Given the description of an element on the screen output the (x, y) to click on. 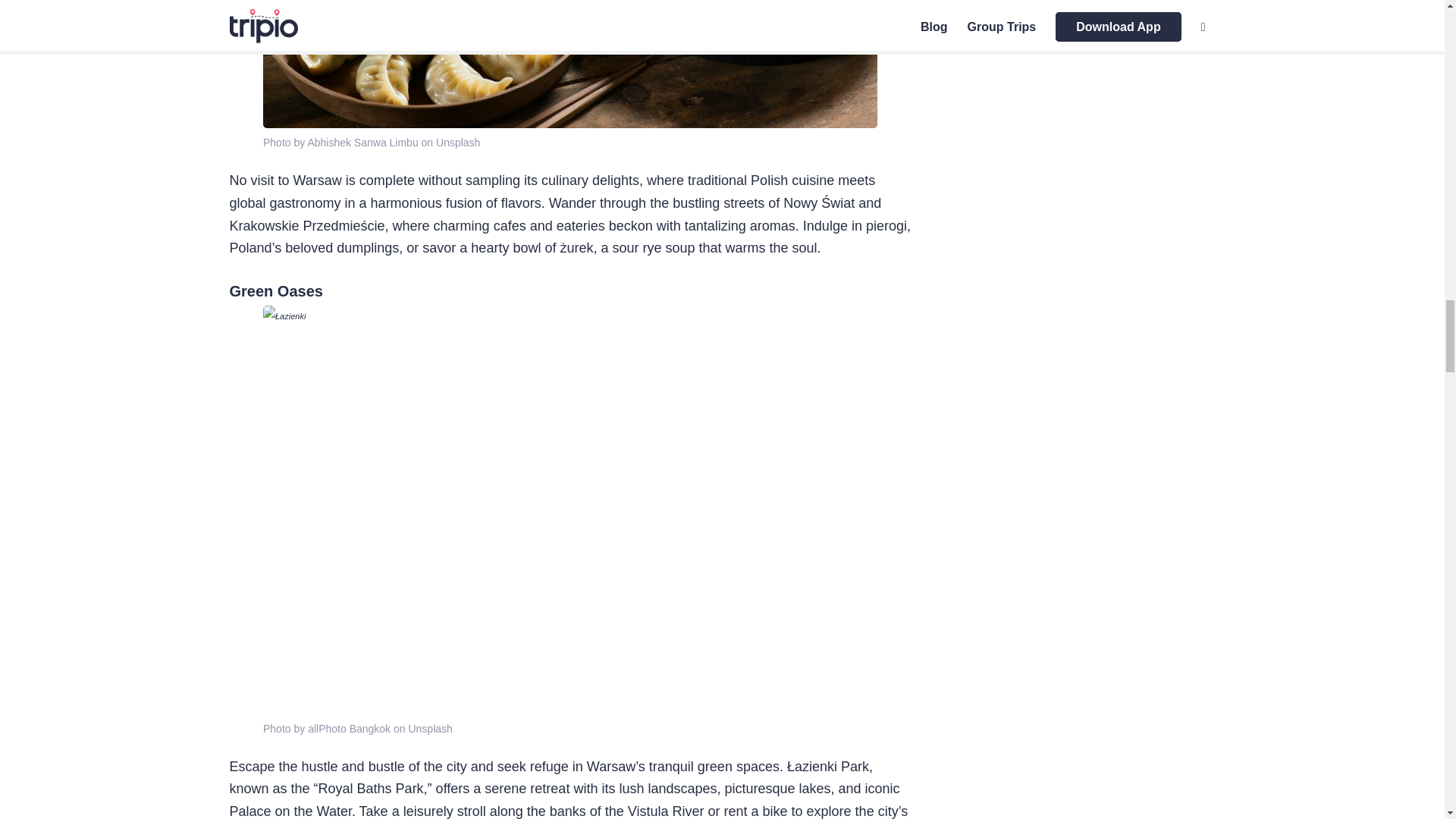
Green Oases (274, 290)
